Given the description of an element on the screen output the (x, y) to click on. 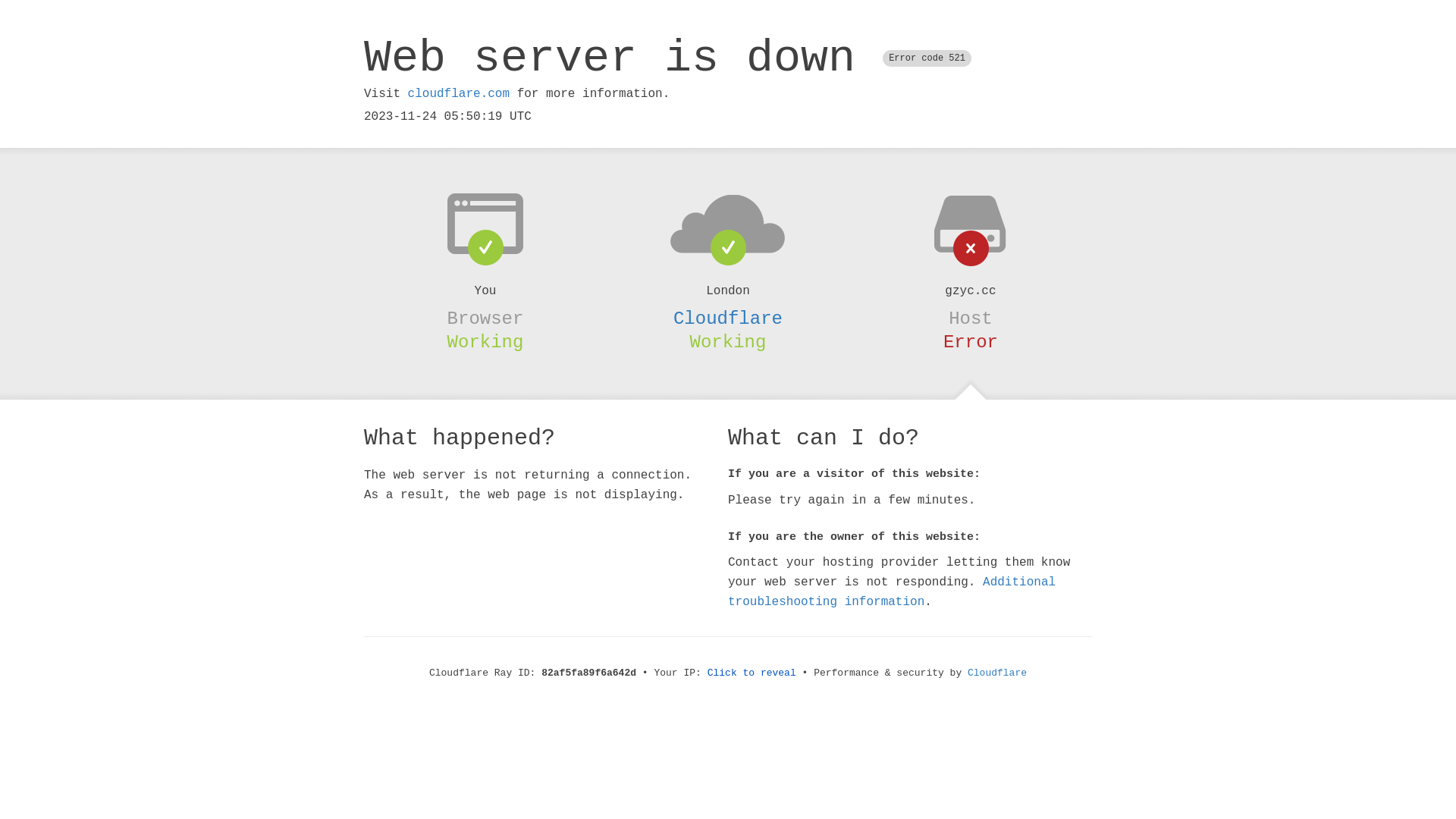
Additional troubleshooting information Element type: text (891, 591)
Cloudflare Element type: text (996, 672)
cloudflare.com Element type: text (458, 93)
Click to reveal Element type: text (751, 672)
Cloudflare Element type: text (727, 318)
